Given the description of an element on the screen output the (x, y) to click on. 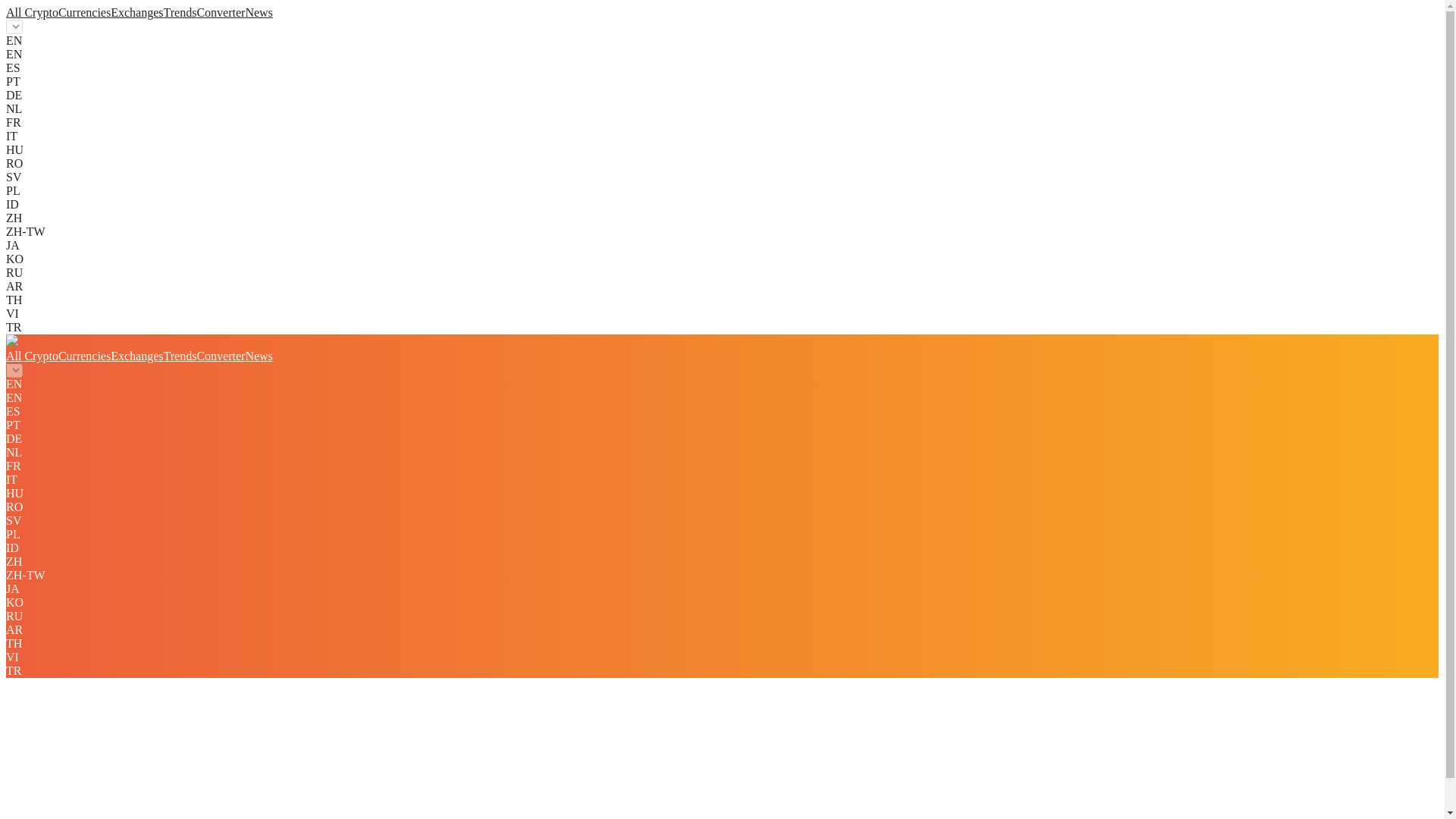
Exchanges (136, 11)
Converter (220, 11)
Trends (179, 355)
Trends (179, 11)
Exchanges (136, 355)
All CryptoCurrencies (57, 355)
All CryptoCurrencies (57, 11)
Converter (220, 355)
News (258, 355)
News (258, 11)
